Given the description of an element on the screen output the (x, y) to click on. 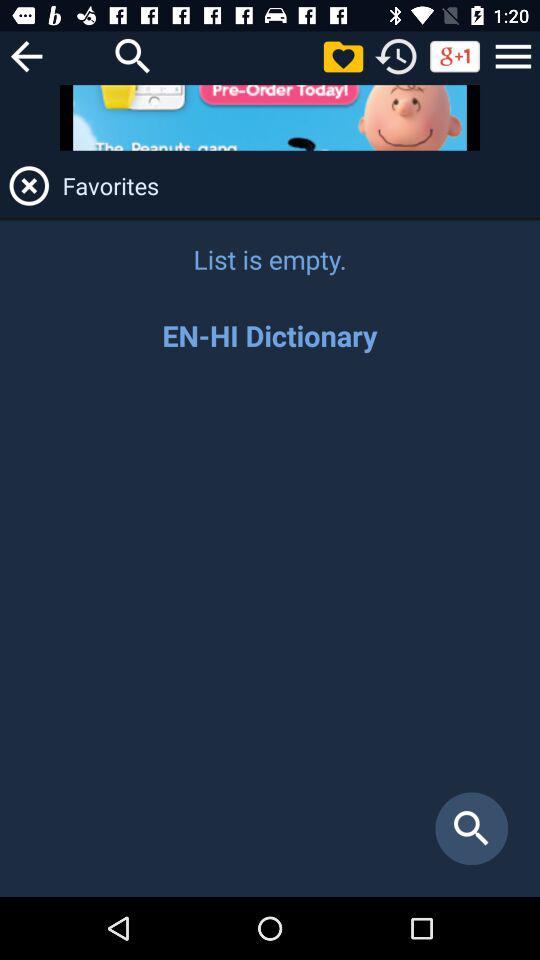
see history (396, 56)
